Given the description of an element on the screen output the (x, y) to click on. 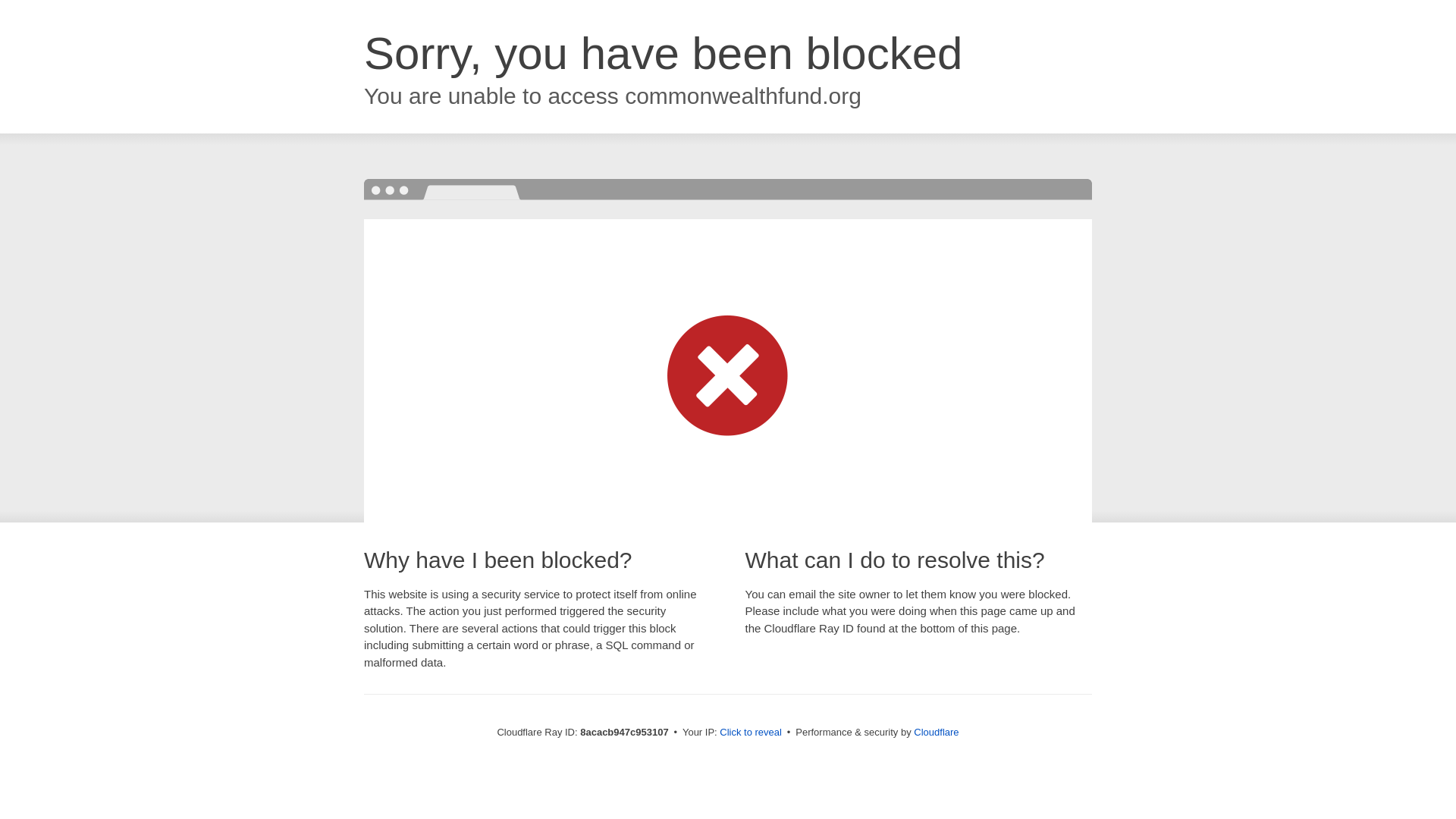
Cloudflare (936, 731)
Click to reveal (750, 732)
